Given the description of an element on the screen output the (x, y) to click on. 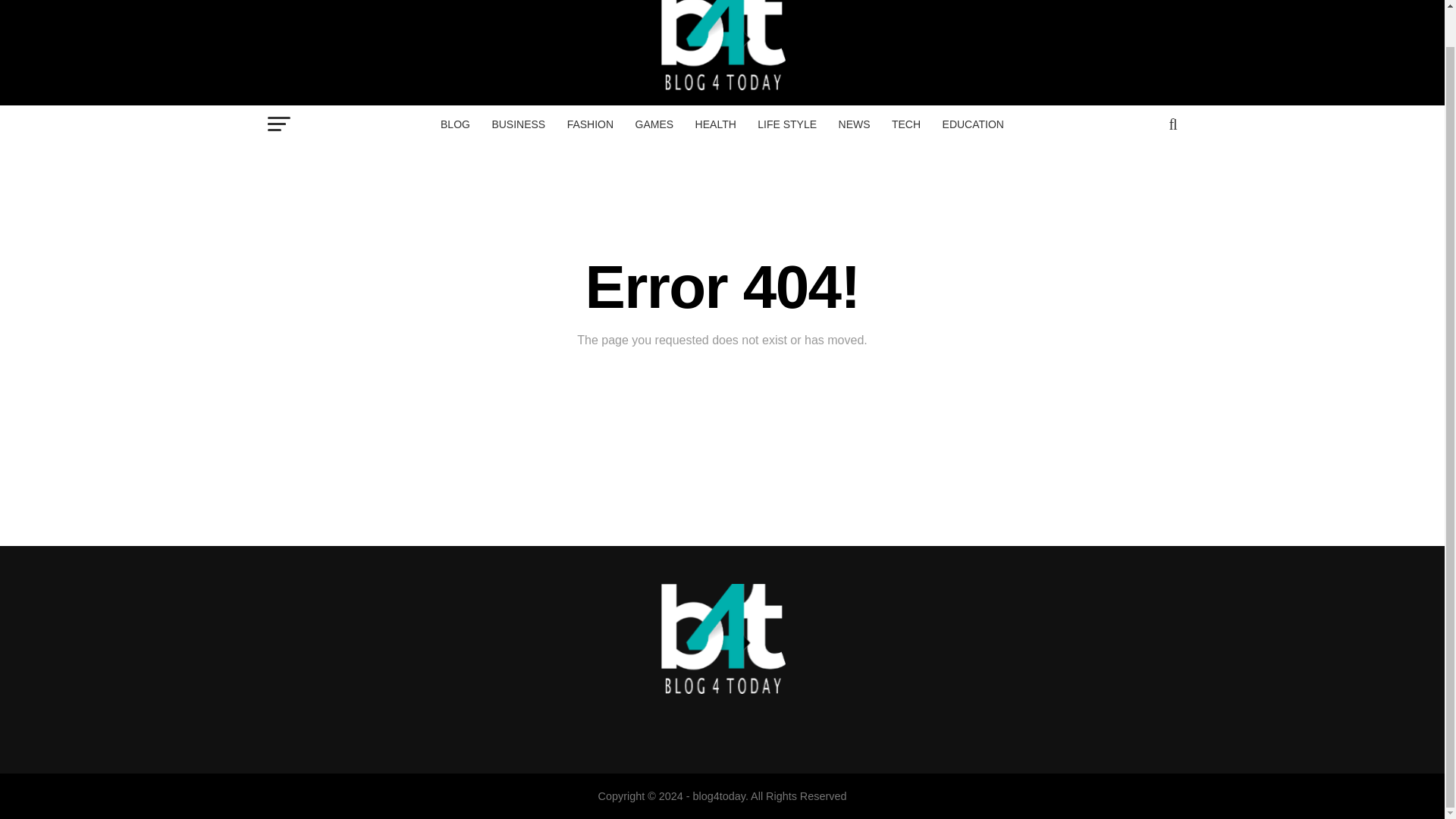
BLOG (454, 124)
LIFE STYLE (786, 124)
GAMES (654, 124)
HEALTH (715, 124)
NEWS (854, 124)
TECH (906, 124)
BUSINESS (517, 124)
FASHION (590, 124)
EDUCATION (973, 124)
